Given the description of an element on the screen output the (x, y) to click on. 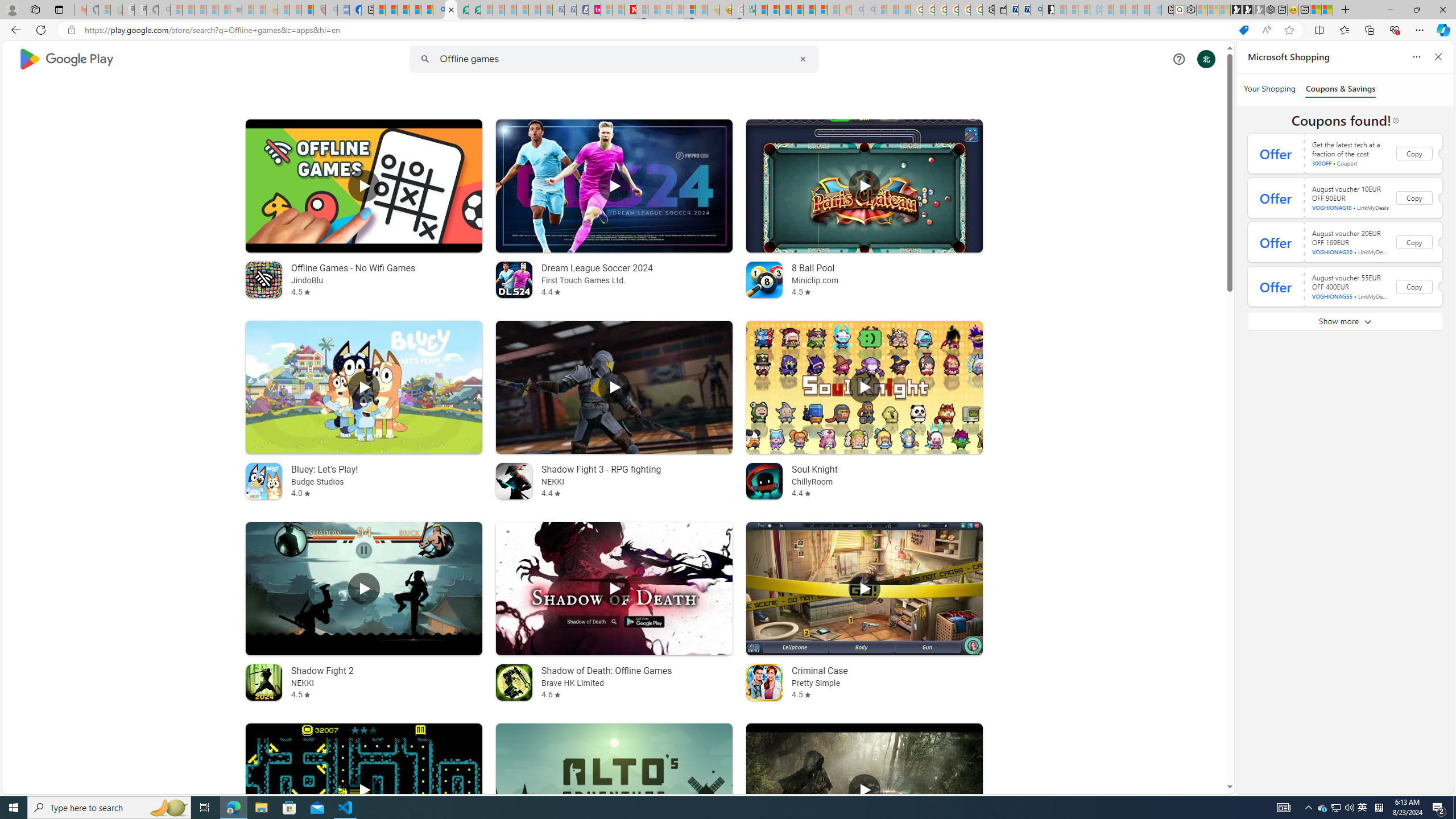
Microsoft Start (403, 9)
Address and search bar (658, 29)
Jobs - lastminute.com Investor Portal (594, 9)
Wildlife - MSN (1315, 9)
Play Shadow Fight 2 (363, 588)
App bar (728, 29)
